Given the description of an element on the screen output the (x, y) to click on. 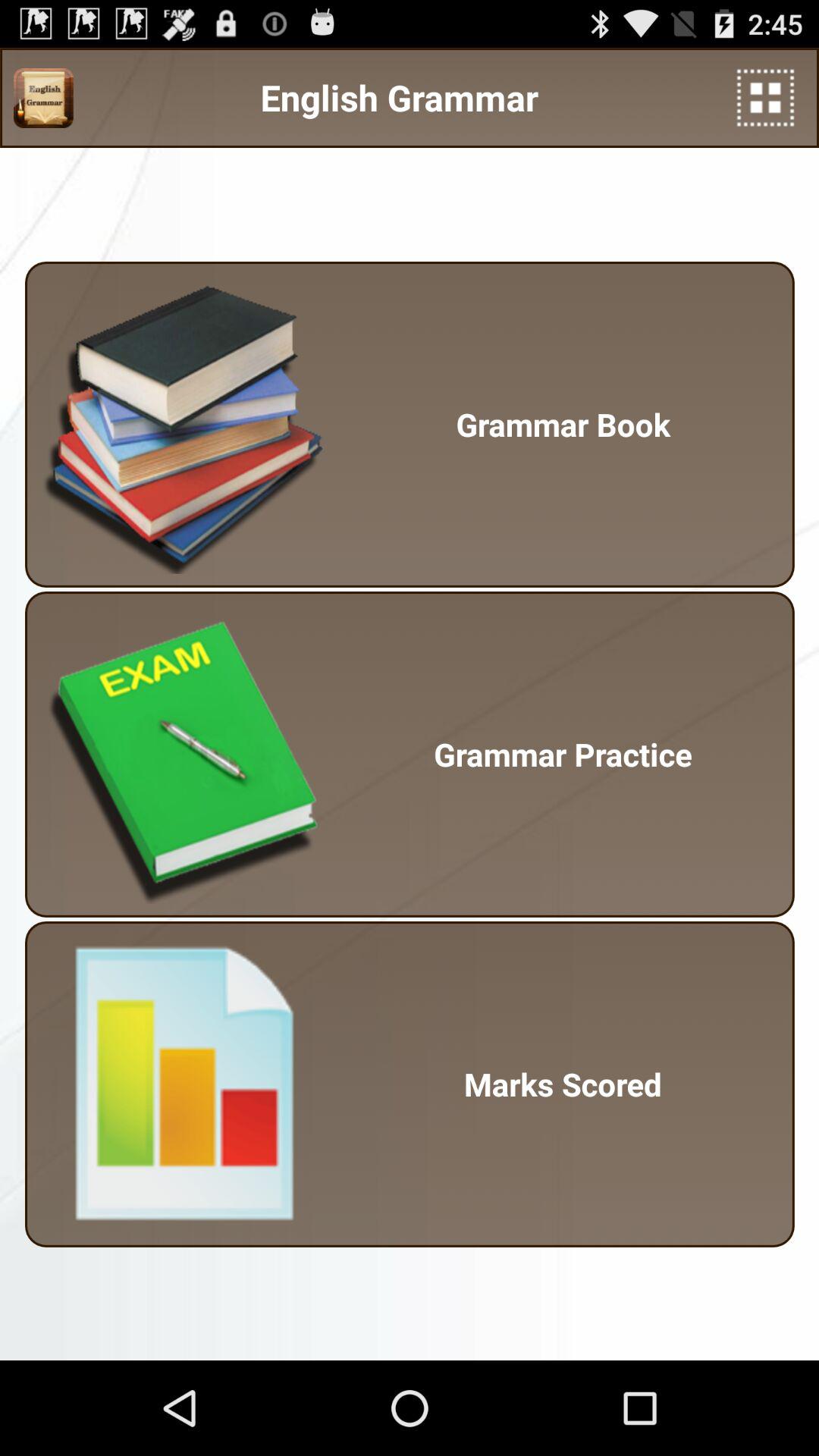
open the app above grammar book item (765, 97)
